Given the description of an element on the screen output the (x, y) to click on. 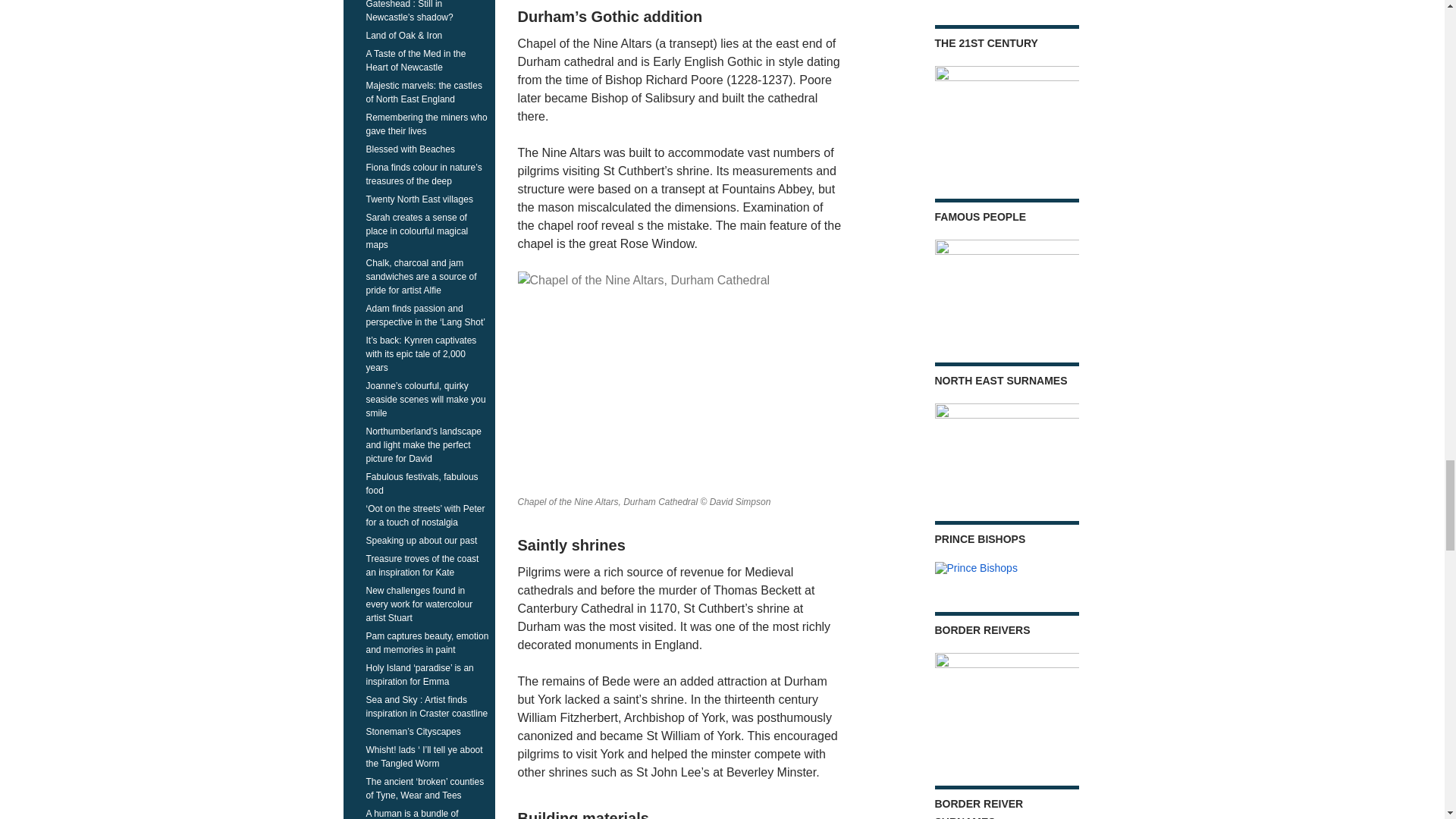
Prince Bishops (975, 568)
